Given the description of an element on the screen output the (x, y) to click on. 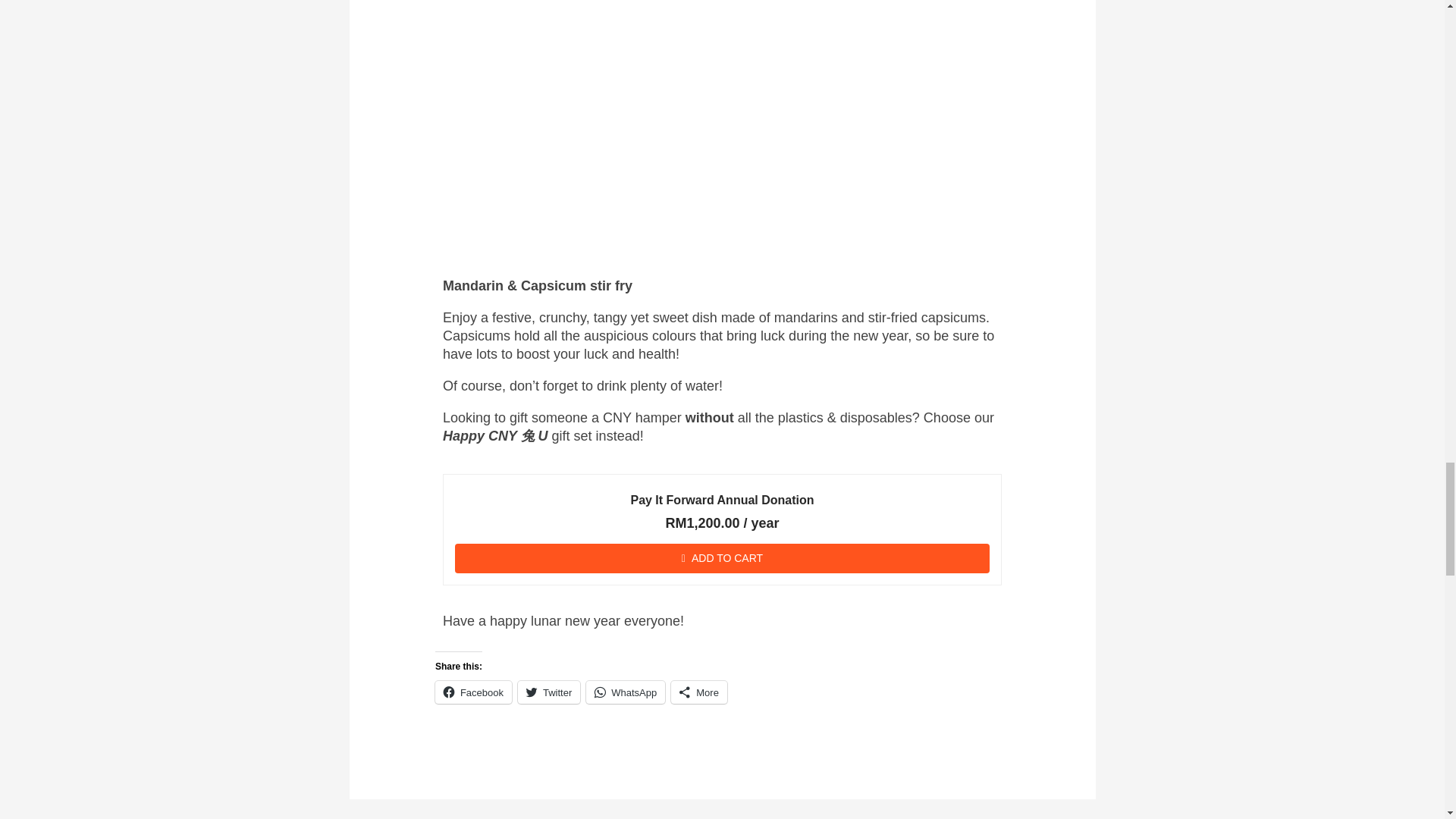
Click to share on WhatsApp (625, 691)
Click to share on Twitter (548, 691)
Click to share on Facebook (473, 691)
